Given the description of an element on the screen output the (x, y) to click on. 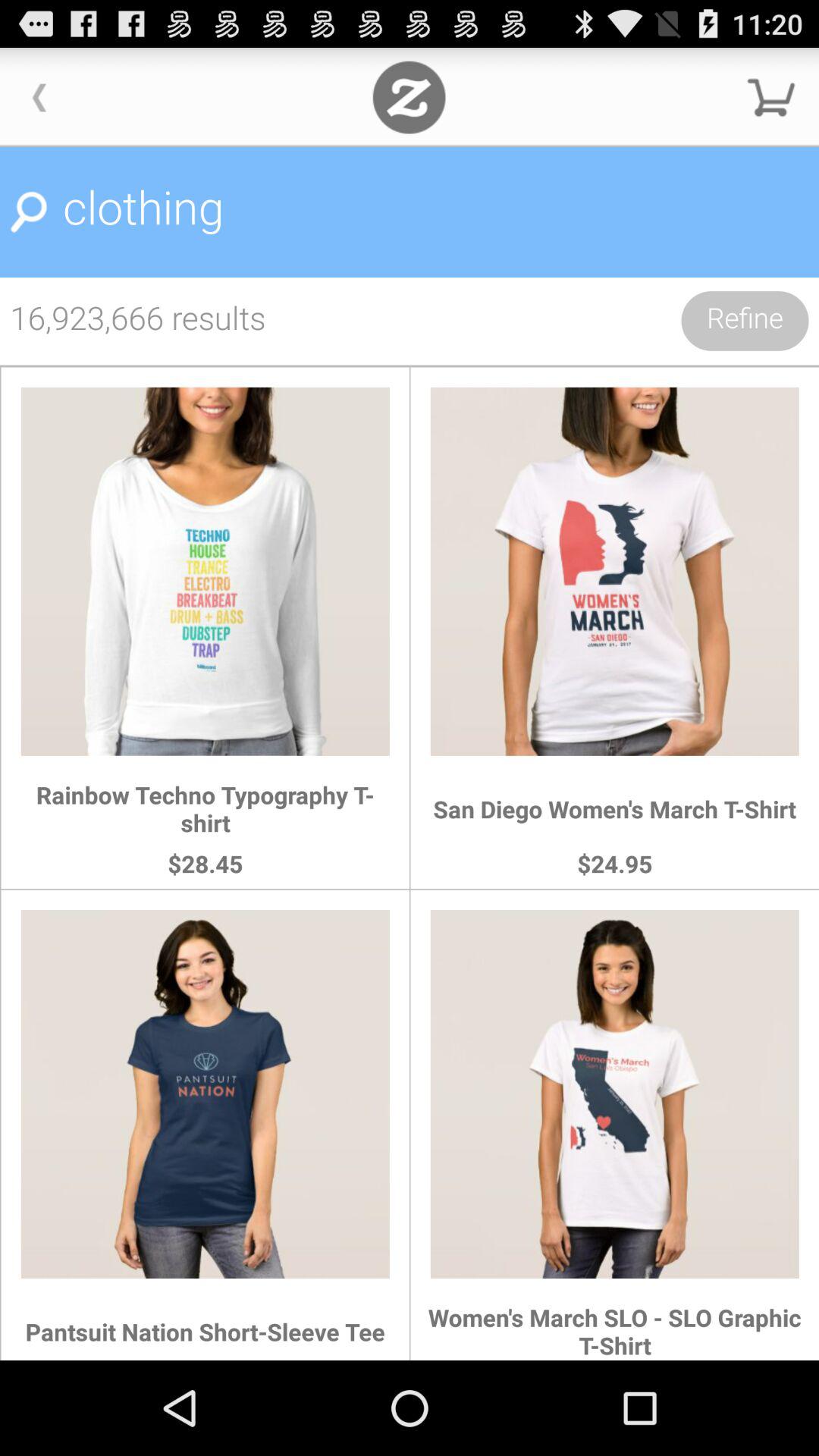
open item next to the 16 923 666 icon (744, 320)
